Given the description of an element on the screen output the (x, y) to click on. 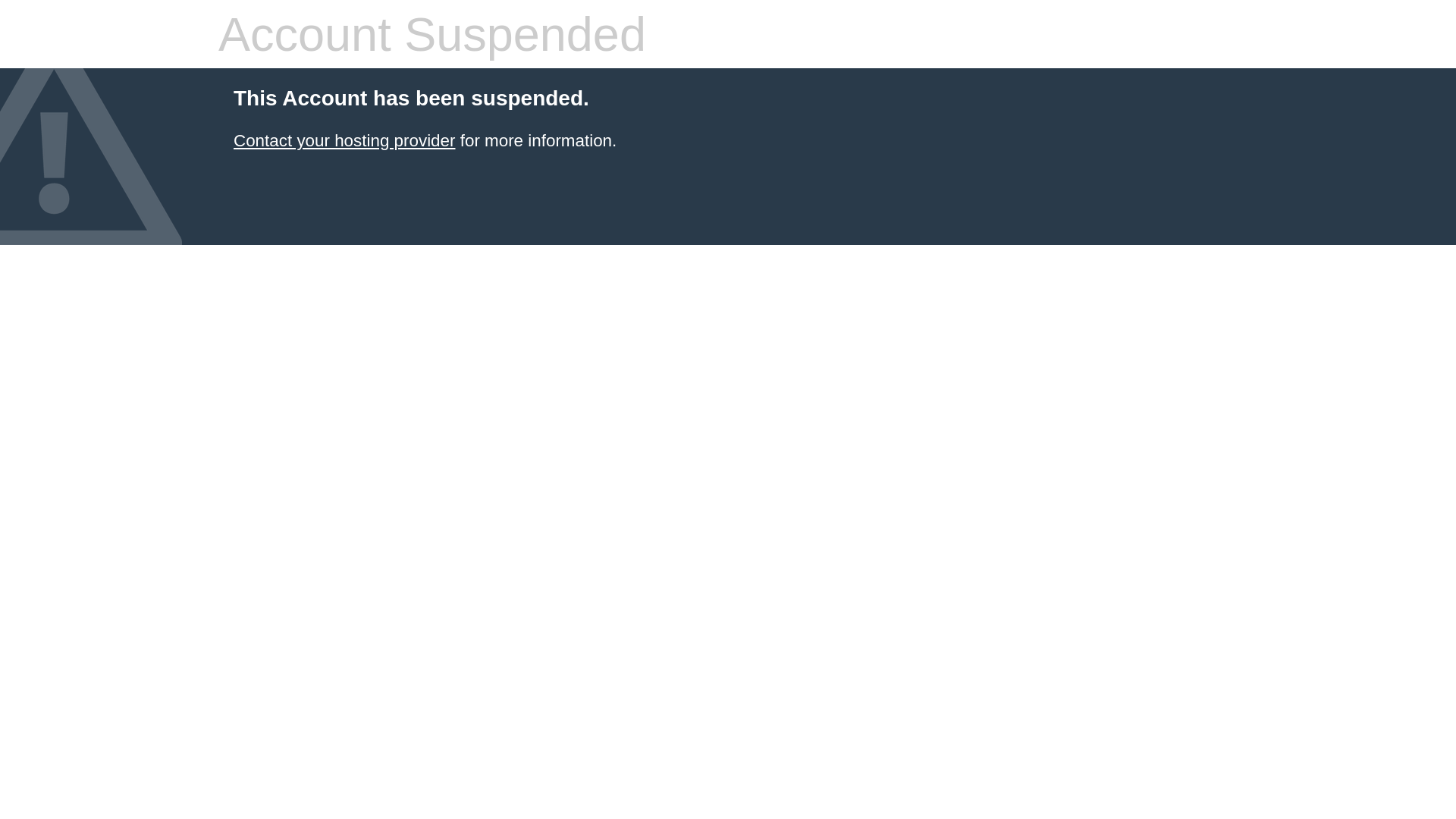
Contact your hosting provider Element type: text (344, 140)
